Given the description of an element on the screen output the (x, y) to click on. 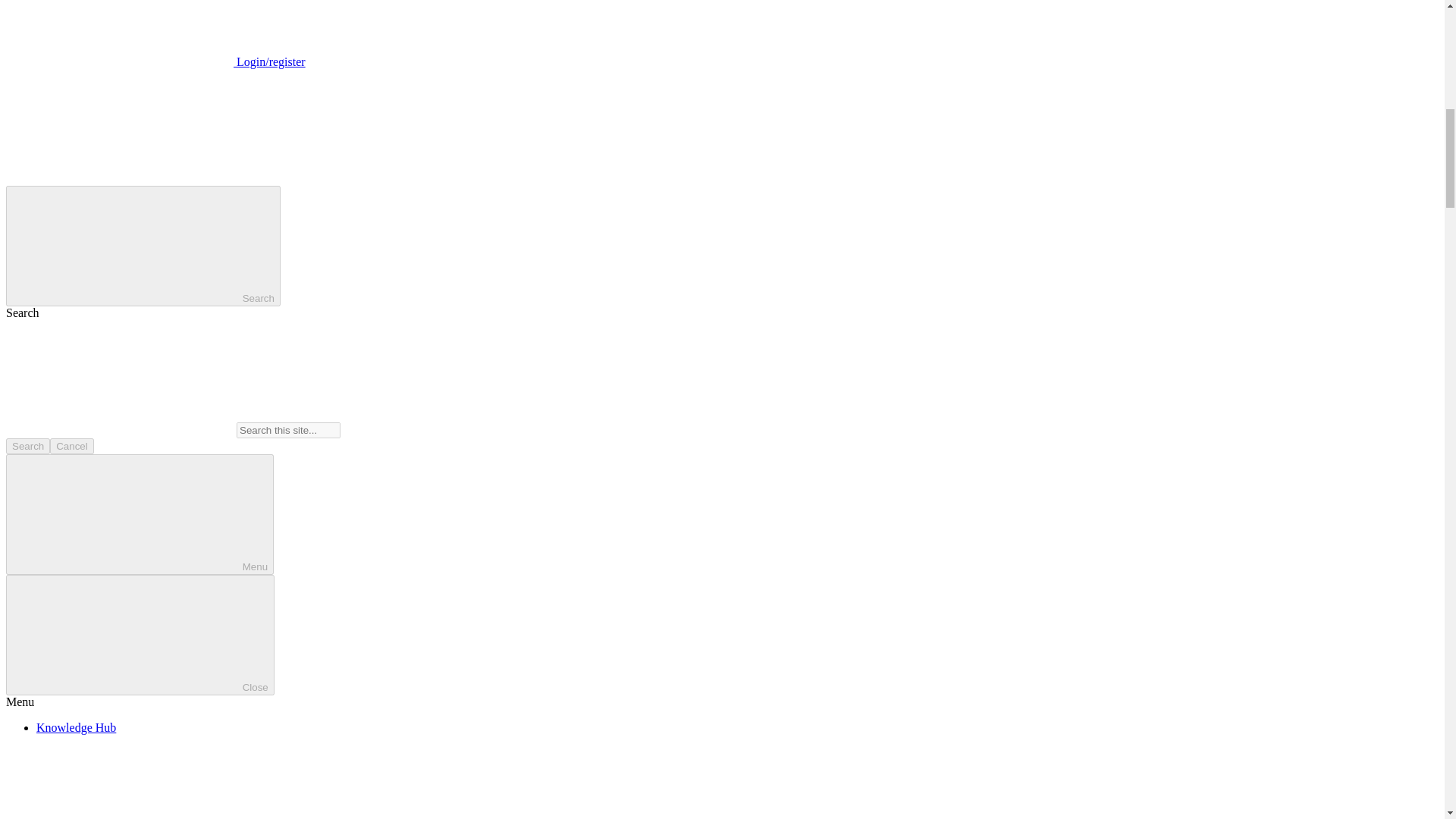
Beef and Lamb NZ (118, 178)
Enter the terms you wish to search for. (287, 430)
Search (27, 446)
Menu (139, 514)
Beef and Lamb NZ (118, 125)
Search (143, 245)
Cancel (71, 446)
Close (140, 634)
Knowledge Hub (76, 727)
